Given the description of an element on the screen output the (x, y) to click on. 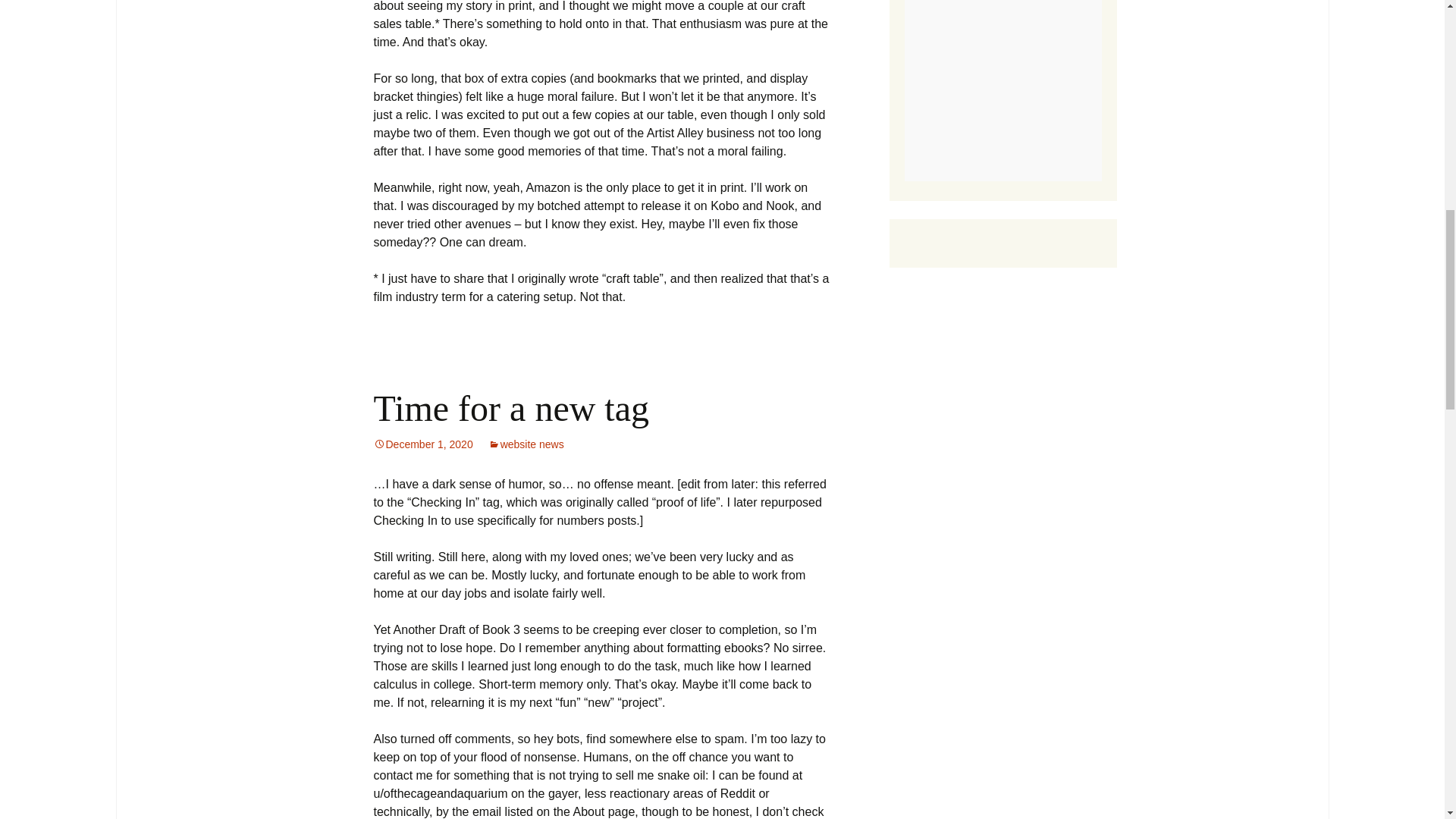
Time for a new tag (510, 408)
website news (525, 444)
December 1, 2020 (421, 444)
Permalink to Time for a new tag (421, 444)
madeitawkwardfiction (1002, 90)
